Given the description of an element on the screen output the (x, y) to click on. 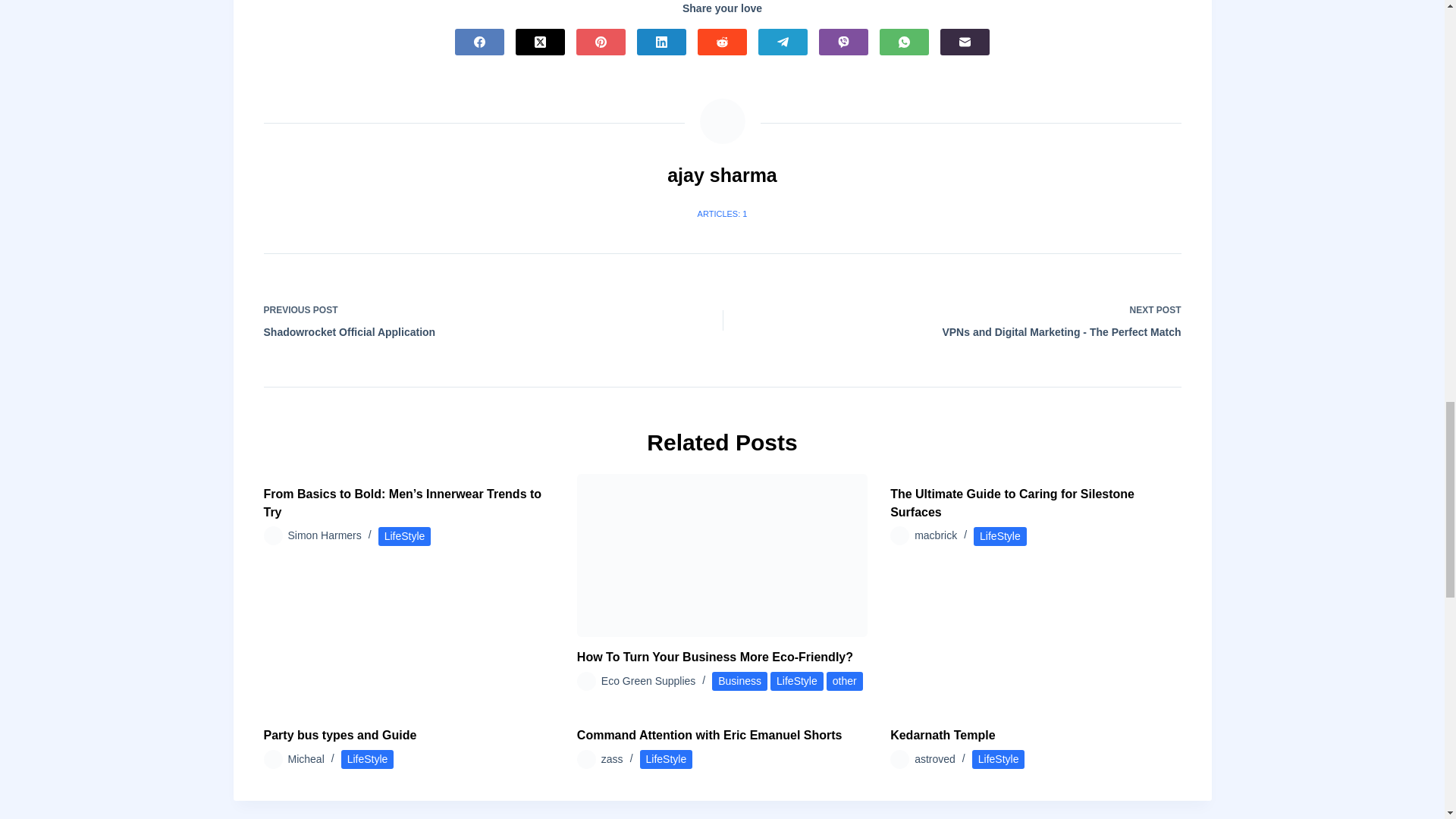
Posts by Micheal (306, 758)
Posts by macbrick (935, 535)
Posts by zass (612, 758)
Posts by Eco Green Supplies (648, 680)
Posts by Simon Harmers (324, 535)
Posts by astroved (934, 758)
